Given the description of an element on the screen output the (x, y) to click on. 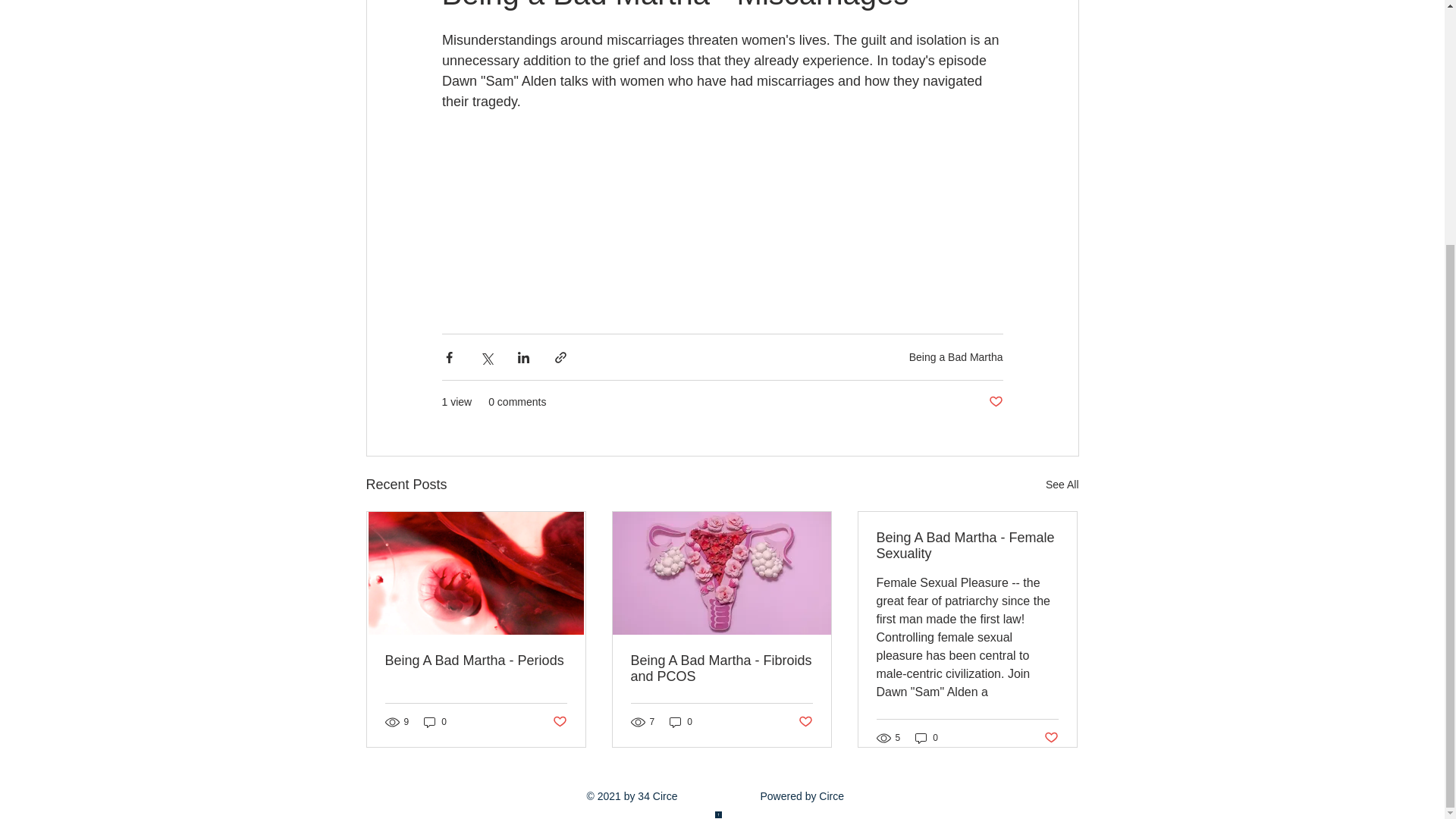
0 (435, 721)
Being A Bad Martha - Female Sexuality (967, 545)
0 (681, 721)
Post not marked as liked (558, 721)
0 (926, 737)
Post not marked as liked (804, 721)
Being A Bad Martha - Fibroids and PCOS (721, 668)
Post not marked as liked (1050, 738)
Being a Bad Martha (955, 357)
Post not marked as liked (995, 401)
